Given the description of an element on the screen output the (x, y) to click on. 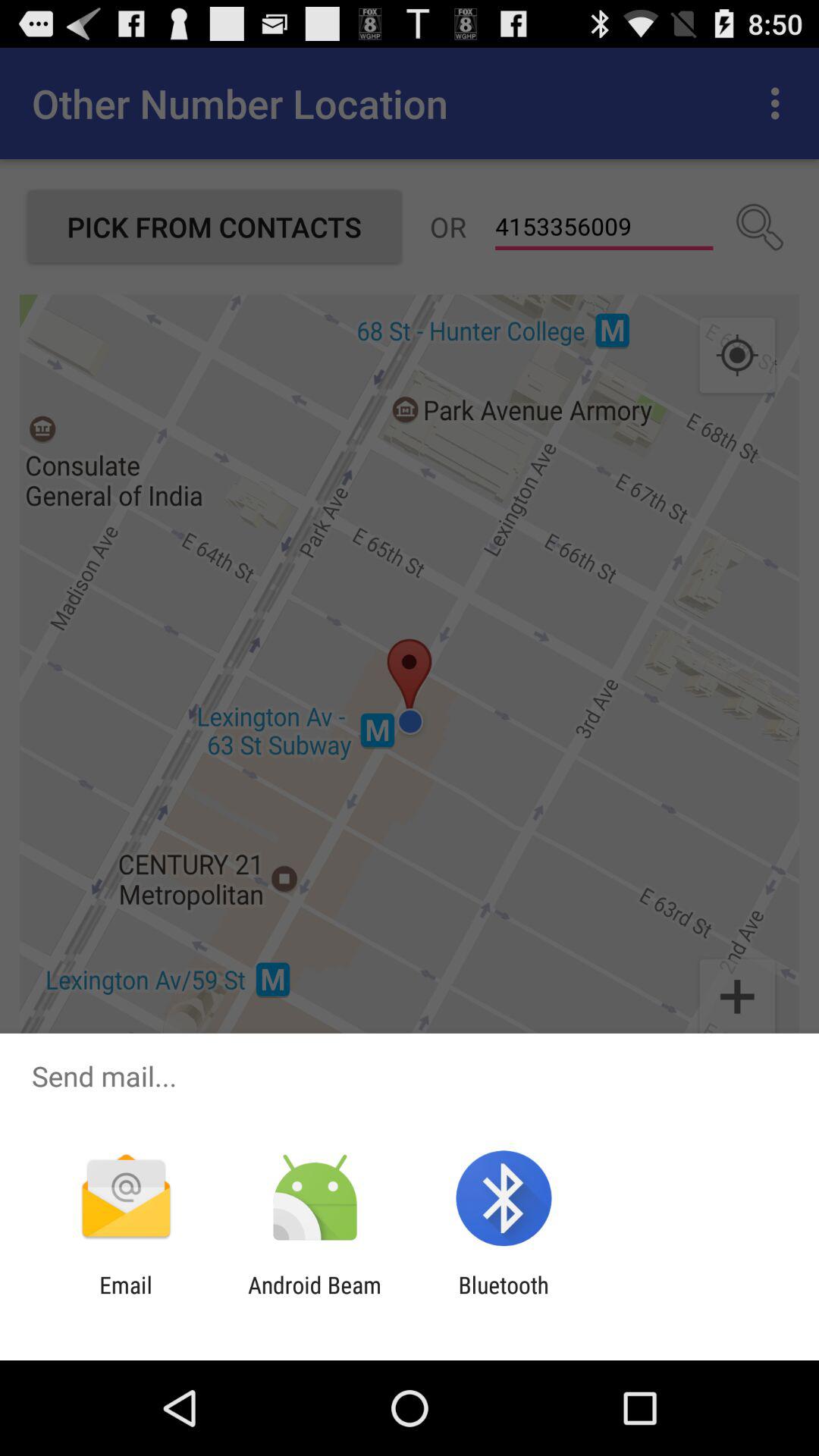
flip until the email (125, 1298)
